Given the description of an element on the screen output the (x, y) to click on. 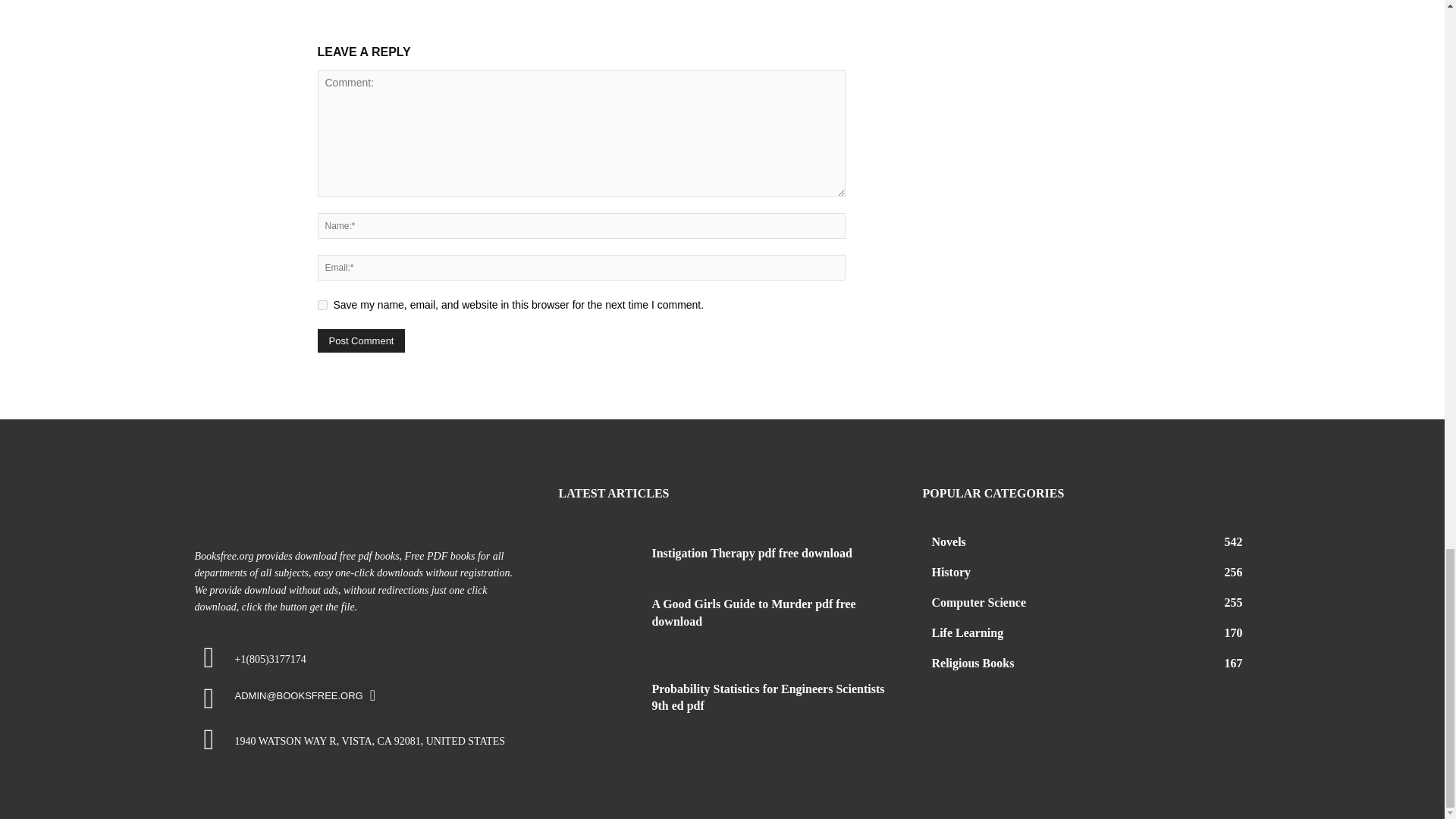
Post Comment (360, 340)
yes (321, 305)
